Given the description of an element on the screen output the (x, y) to click on. 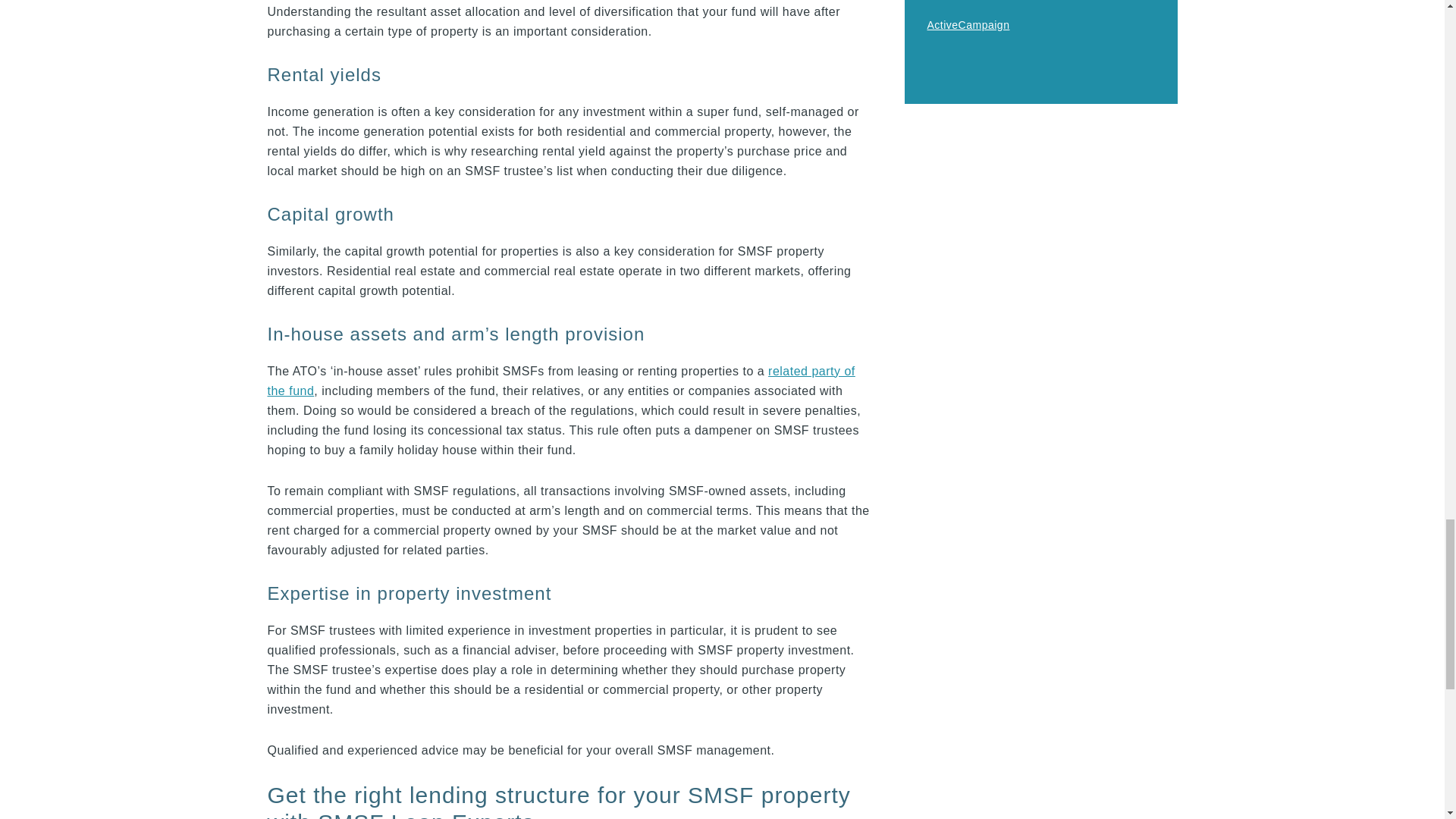
related party of the fund (560, 380)
